Given the description of an element on the screen output the (x, y) to click on. 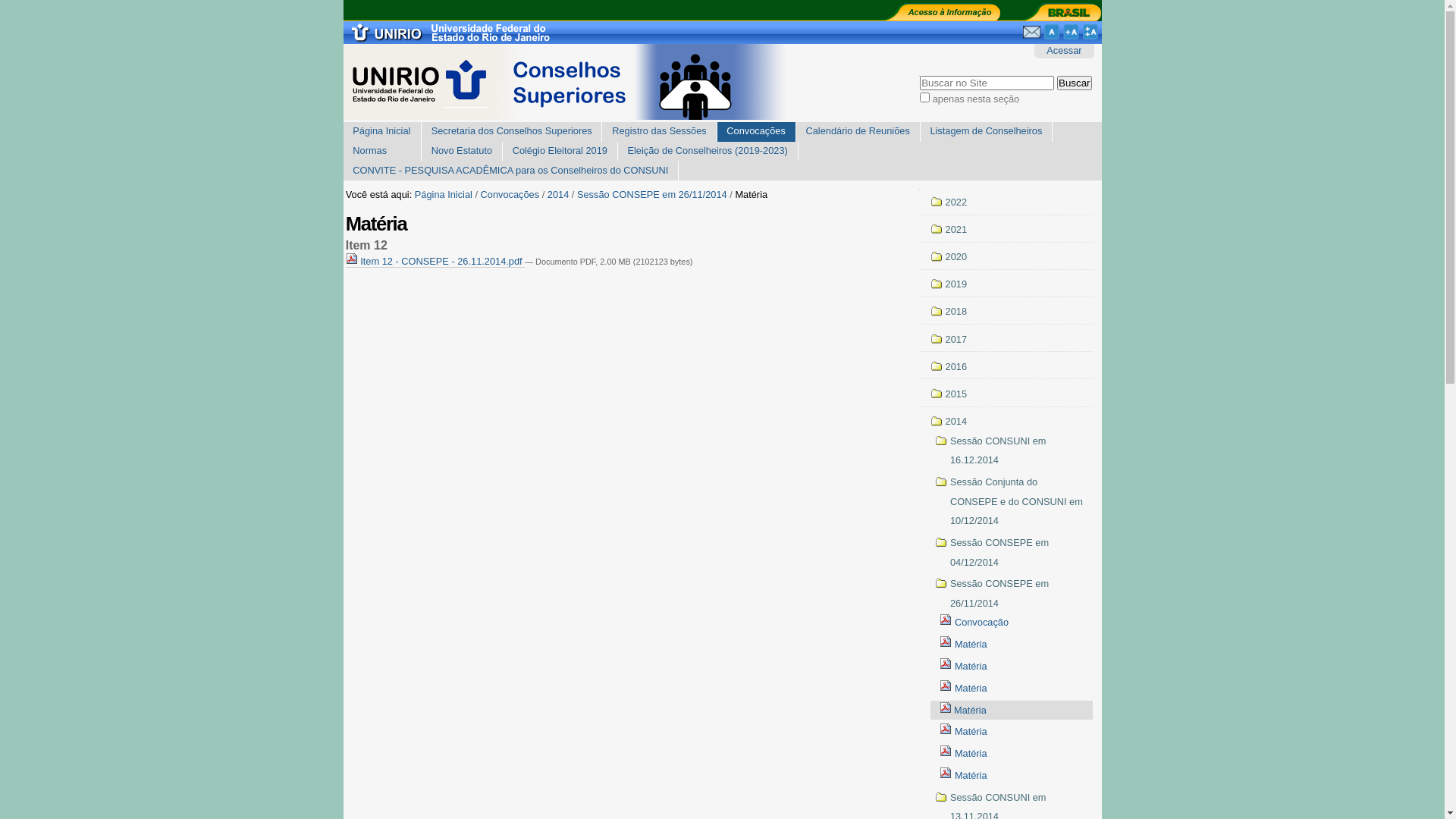
www.brasil.gov.br Element type: text (1060, 10)
2016 Element type: text (1006, 366)
Conselhos Superiores Element type: hover (588, 81)
Buscar Element type: text (1074, 82)
Buscar no Site Element type: hover (986, 82)
Item 12 - CONSEPE - 26.11.2014.pdf Element type: text (435, 261)
Normas Element type: text (381, 151)
www.sic.gov.br Element type: text (939, 10)
2022 Element type: text (1006, 202)
2019 Element type: text (1006, 284)
2021 Element type: text (1006, 229)
Listagem de Conselheiros Element type: text (986, 131)
2014 Element type: text (1006, 421)
Secretaria dos Conselhos Superiores Element type: text (511, 131)
2020 Element type: text (1006, 256)
2015 Element type: text (1006, 394)
2017 Element type: text (1006, 338)
Conselhos Superiores Element type: hover (588, 82)
Acessar Element type: text (1063, 51)
Novo Estatuto Element type: text (461, 151)
2014 Element type: text (557, 195)
2018 Element type: text (1006, 311)
